Given the description of an element on the screen output the (x, y) to click on. 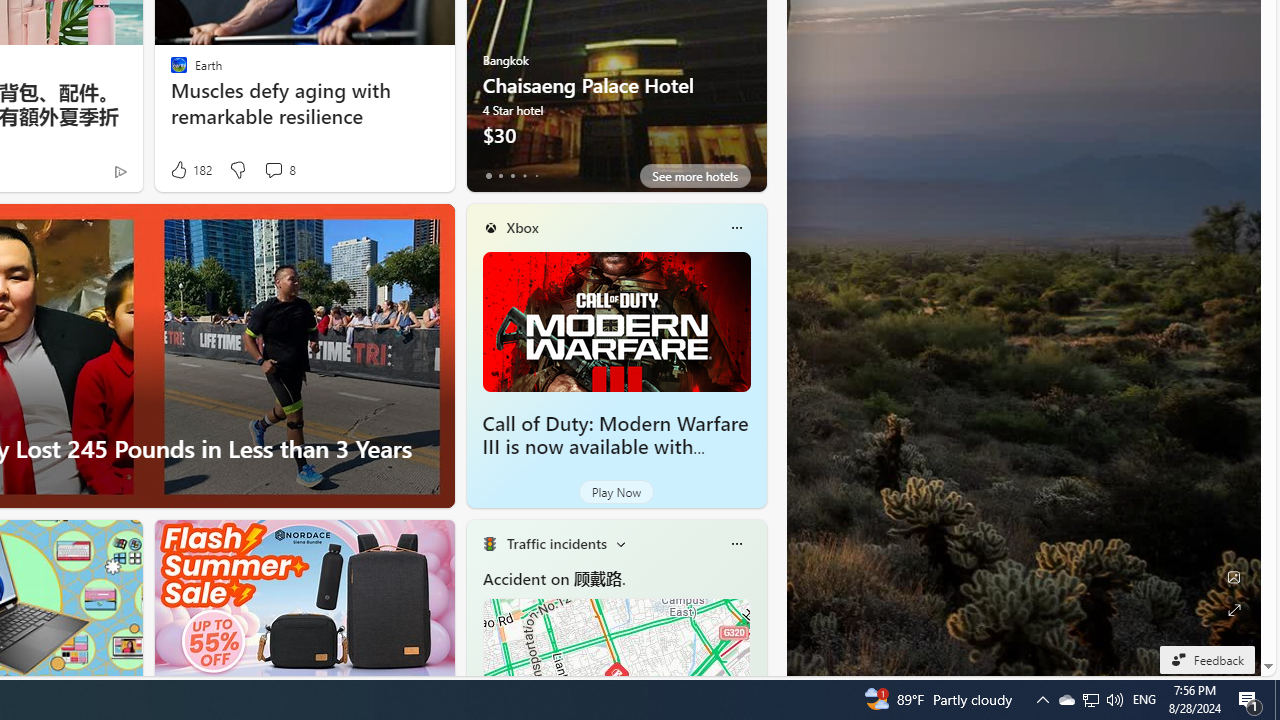
Play Now (616, 491)
tab-2 (511, 175)
Traffic incidents (555, 543)
Change scenarios (620, 543)
Traffic Title Traffic Light (489, 543)
tab-3 (524, 175)
tab-1 (500, 175)
Class: icon-img (736, 543)
View comments 8 Comment (279, 170)
View comments 8 Comment (273, 169)
